Given the description of an element on the screen output the (x, y) to click on. 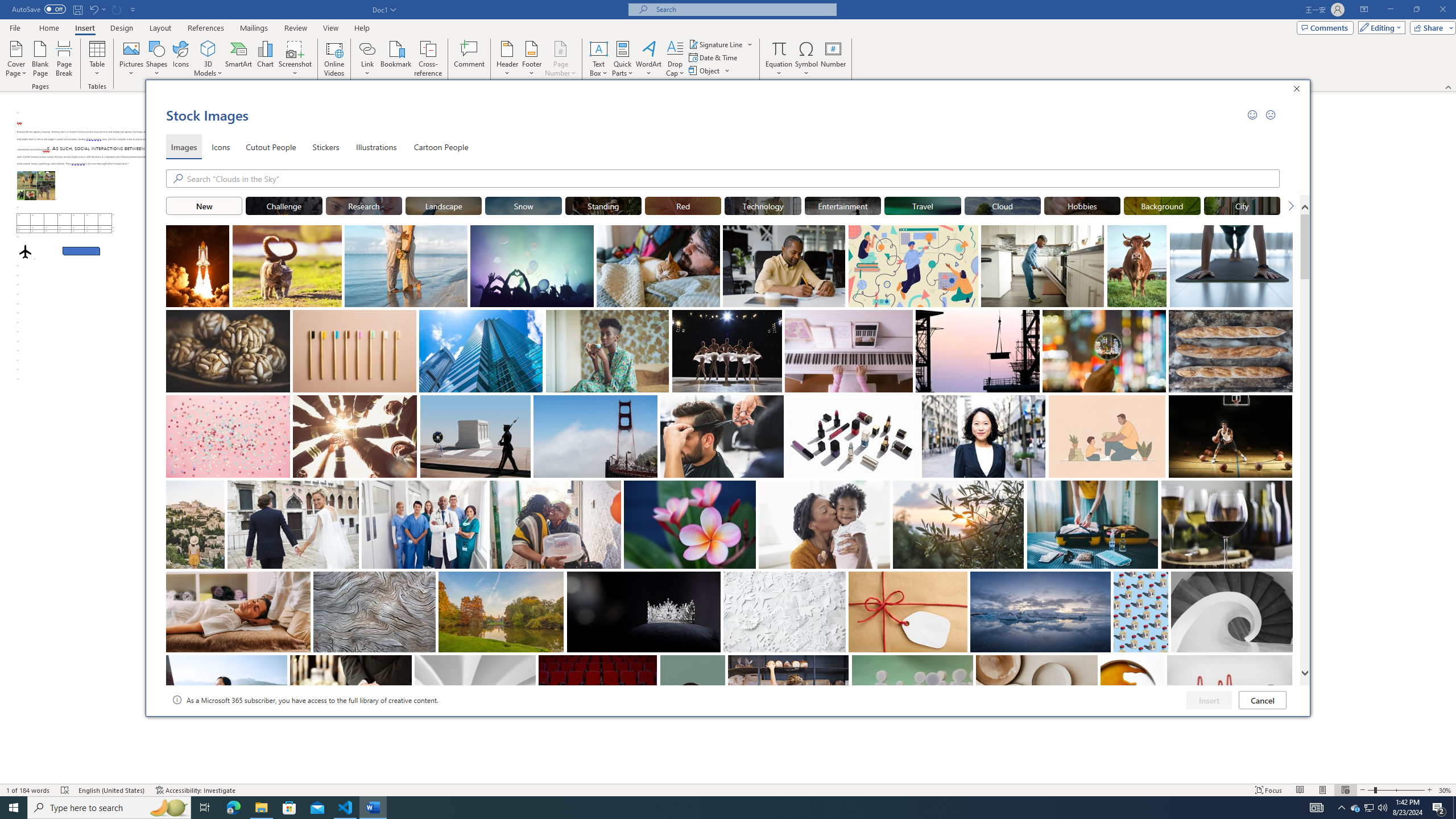
"Red" Stock Images. (682, 205)
Number... (833, 58)
Images (183, 146)
Chart... (265, 58)
Link (367, 48)
Mailings (253, 28)
Editing (1379, 27)
Zoom In (1430, 790)
Illustrations (376, 146)
Microsoft search (742, 9)
Class: MsoCommandBar (728, 789)
